Given the description of an element on the screen output the (x, y) to click on. 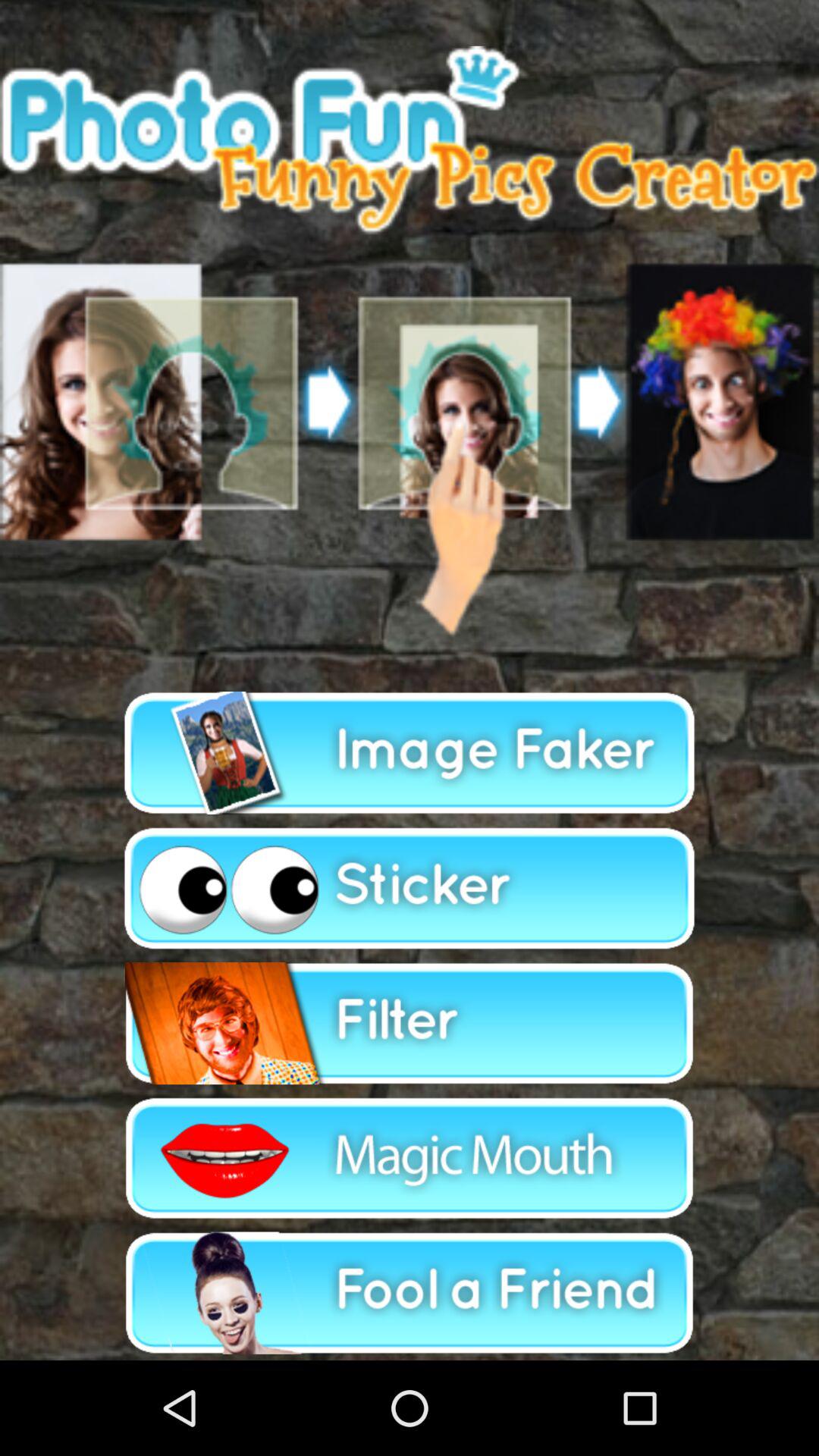
to select the image faker and process the particular option (409, 752)
